Given the description of an element on the screen output the (x, y) to click on. 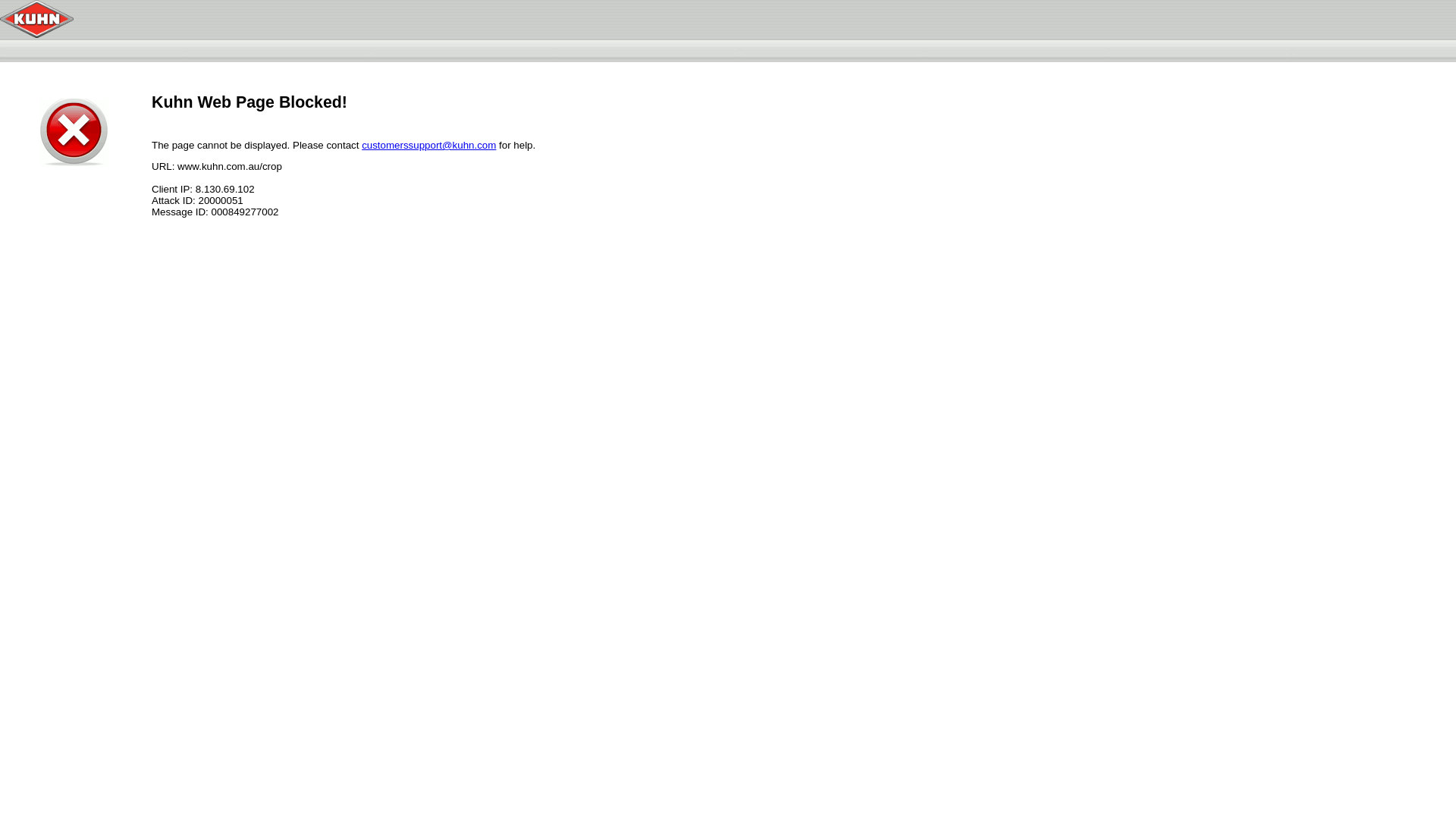
customerssupport@kuhn.com Element type: text (428, 144)
